Given the description of an element on the screen output the (x, y) to click on. 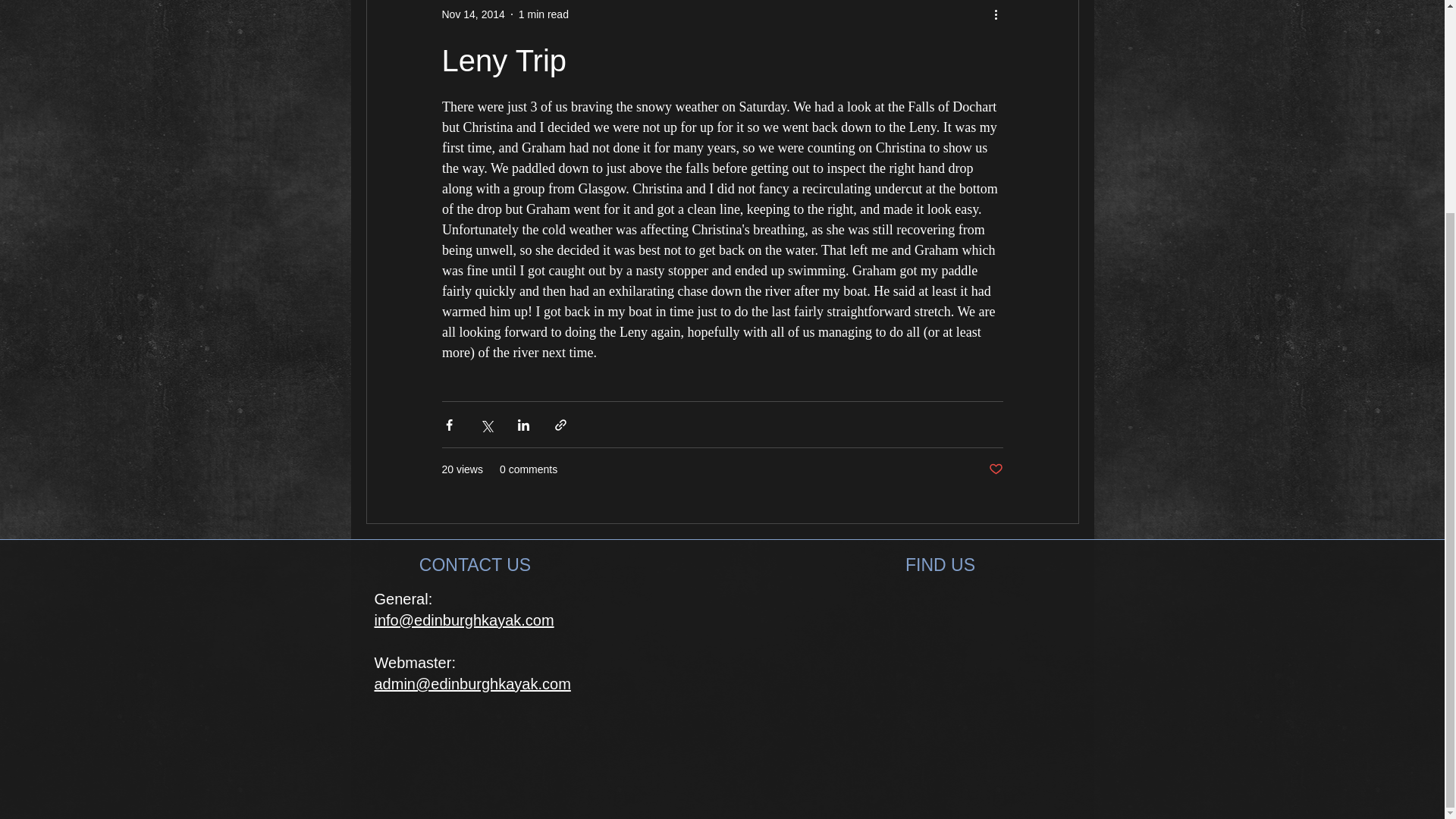
1 min read (543, 14)
Post not marked as liked (995, 469)
Nov 14, 2014 (472, 14)
